Given the description of an element on the screen output the (x, y) to click on. 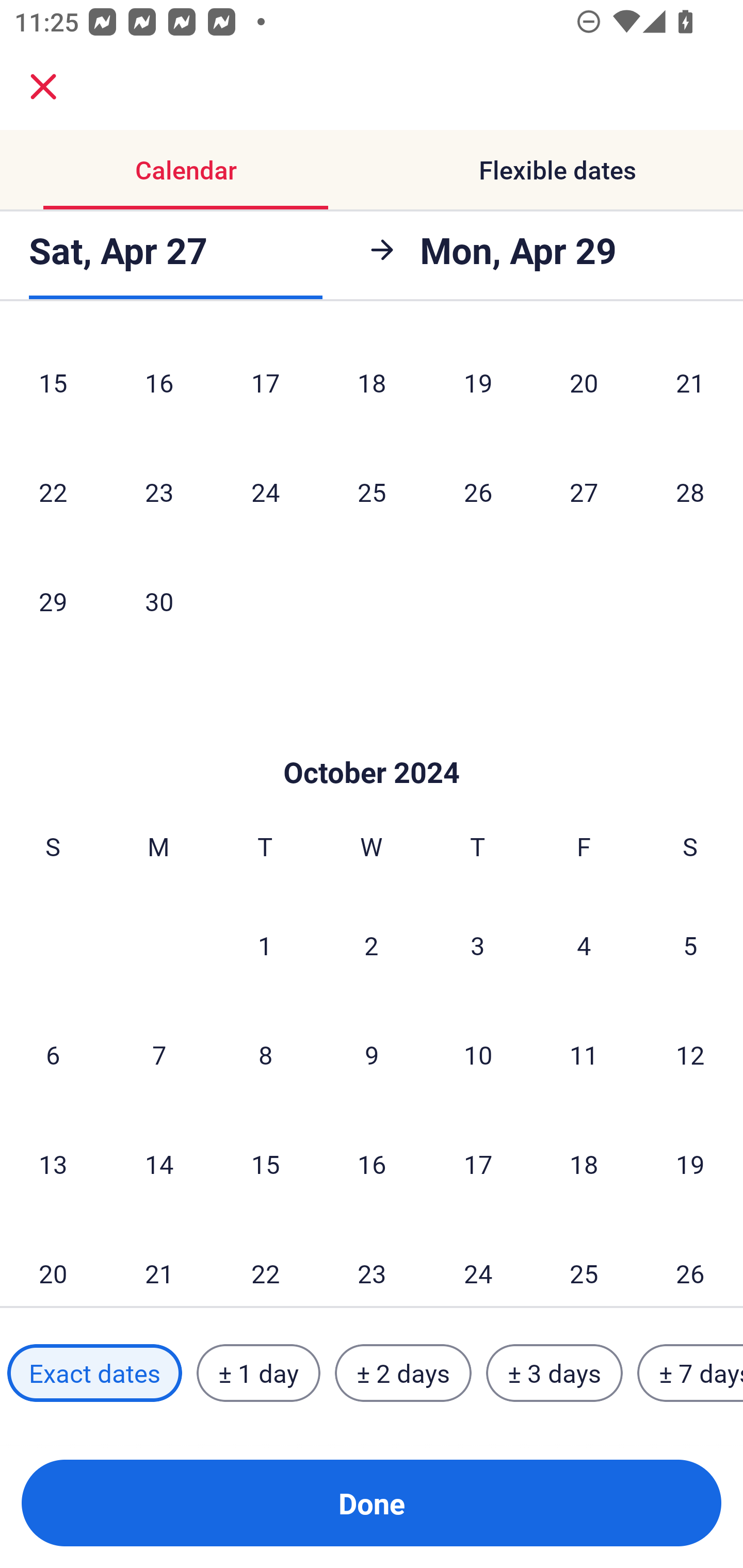
close. (43, 86)
Flexible dates (557, 170)
15 Sunday, September 15, 2024 (53, 382)
16 Monday, September 16, 2024 (159, 382)
17 Tuesday, September 17, 2024 (265, 382)
18 Wednesday, September 18, 2024 (371, 382)
19 Thursday, September 19, 2024 (477, 382)
20 Friday, September 20, 2024 (584, 382)
21 Saturday, September 21, 2024 (690, 382)
22 Sunday, September 22, 2024 (53, 491)
23 Monday, September 23, 2024 (159, 491)
24 Tuesday, September 24, 2024 (265, 491)
25 Wednesday, September 25, 2024 (371, 491)
26 Thursday, September 26, 2024 (477, 491)
27 Friday, September 27, 2024 (584, 491)
28 Saturday, September 28, 2024 (690, 491)
29 Sunday, September 29, 2024 (53, 600)
30 Monday, September 30, 2024 (159, 600)
Skip to Done (371, 741)
1 Tuesday, October 1, 2024 (264, 945)
